Given the description of an element on the screen output the (x, y) to click on. 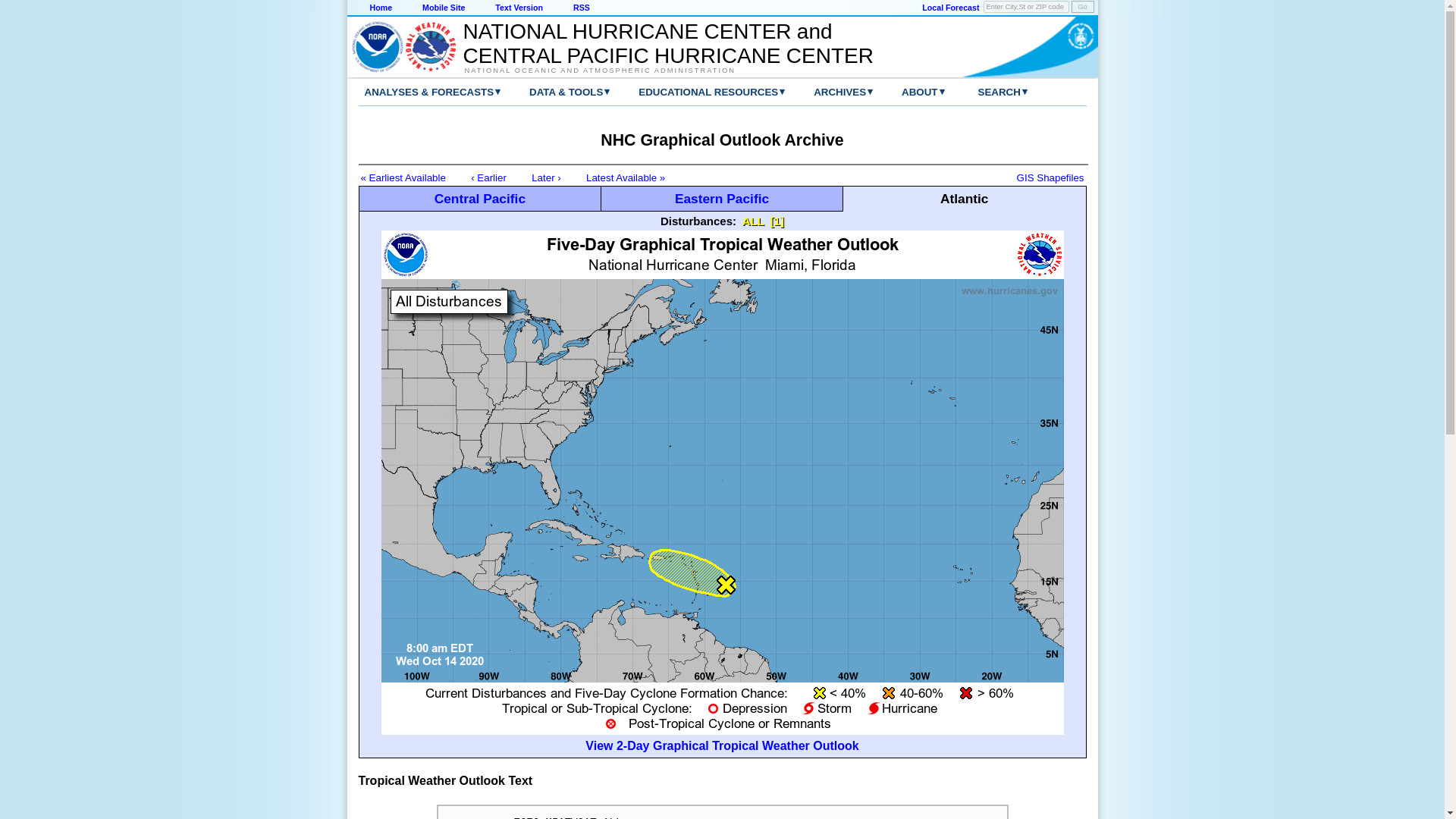
Home (381, 7)
Go (1081, 6)
RSS (581, 7)
EDUCATIONAL RESOURCES (696, 91)
Text Version (519, 7)
Local Forecast (949, 7)
Enter City,St or ZIP code (1026, 6)
Mobile Site (443, 7)
Go (1081, 6)
